Given the description of an element on the screen output the (x, y) to click on. 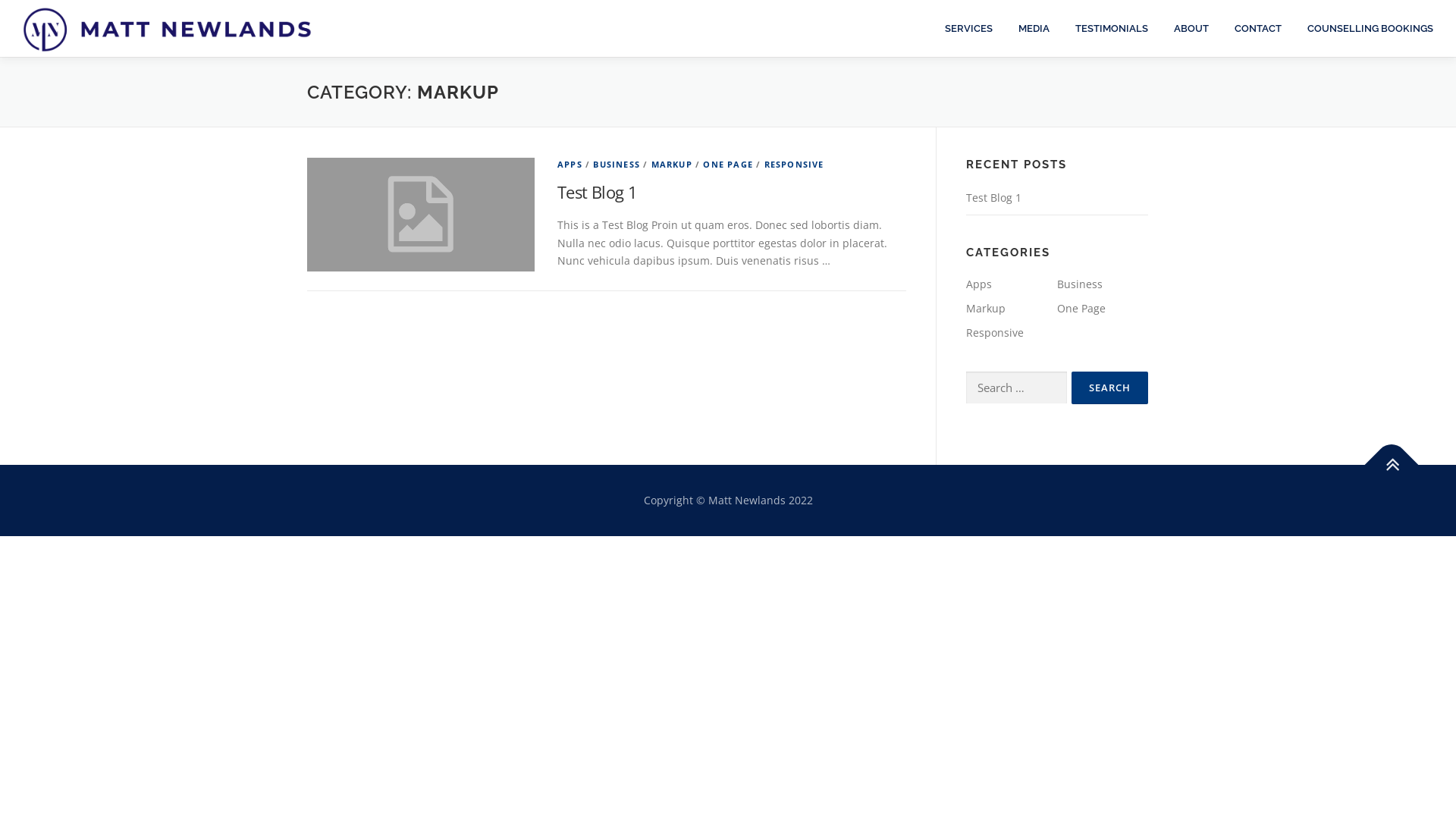
ABOUT Element type: text (1191, 28)
One Page Element type: text (1081, 308)
Back To Top Element type: hover (1383, 457)
RESPONSIVE Element type: text (794, 163)
APPS Element type: text (569, 163)
SERVICES Element type: text (968, 28)
Markup Element type: text (985, 308)
Apps Element type: text (978, 283)
COUNSELLING BOOKINGS Element type: text (1363, 28)
MARKUP Element type: text (671, 163)
Search Element type: text (1109, 387)
MEDIA Element type: text (1033, 28)
Business Element type: text (1079, 283)
Test Blog 1 Element type: text (993, 197)
TESTIMONIALS Element type: text (1111, 28)
BUSINESS Element type: text (616, 163)
Responsive Element type: text (994, 332)
Test Blog 1 Element type: text (597, 191)
CONTACT Element type: text (1257, 28)
ONE PAGE Element type: text (727, 163)
